Given the description of an element on the screen output the (x, y) to click on. 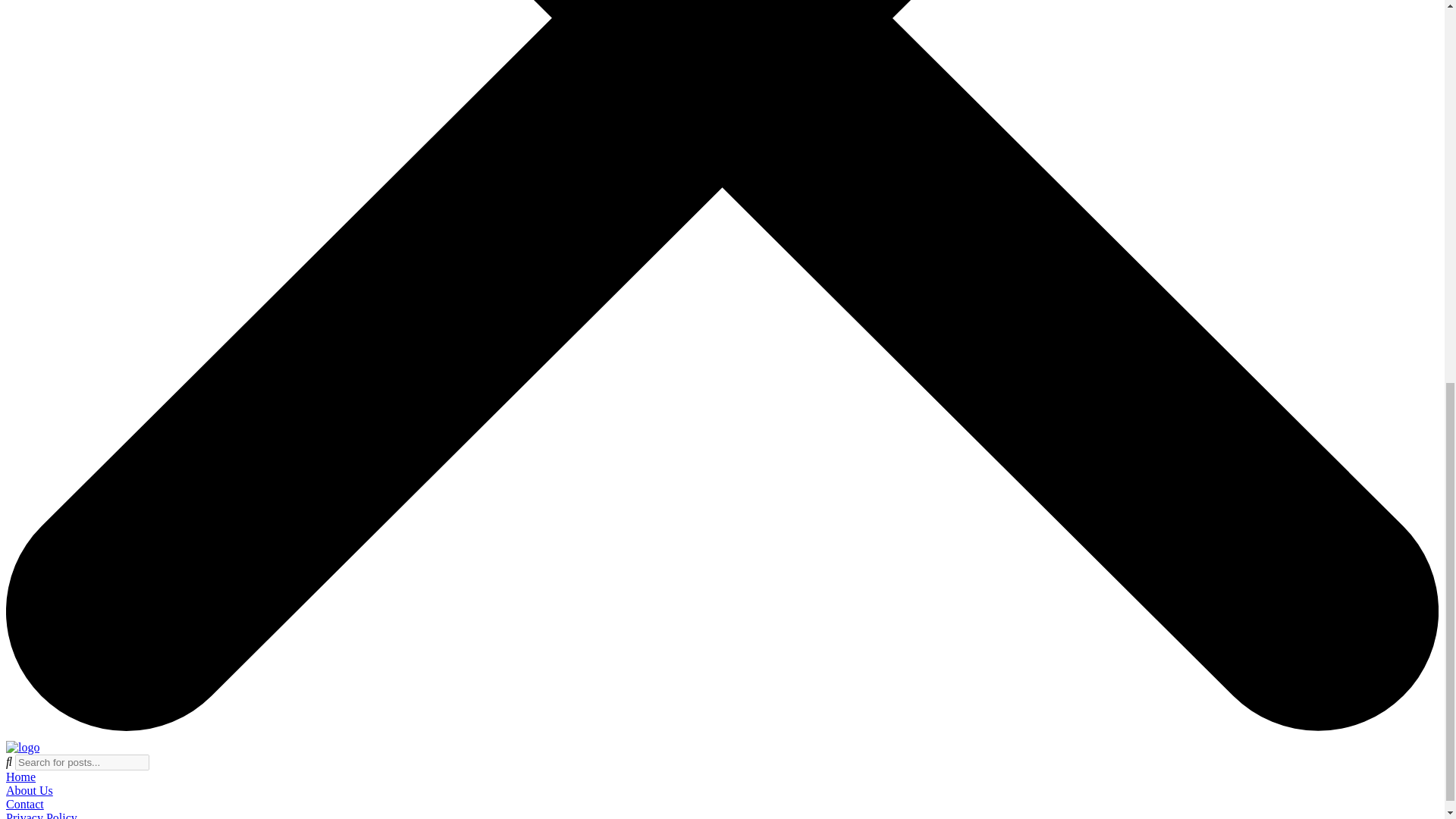
Contact (24, 803)
About Us (28, 789)
Home (19, 776)
